Given the description of an element on the screen output the (x, y) to click on. 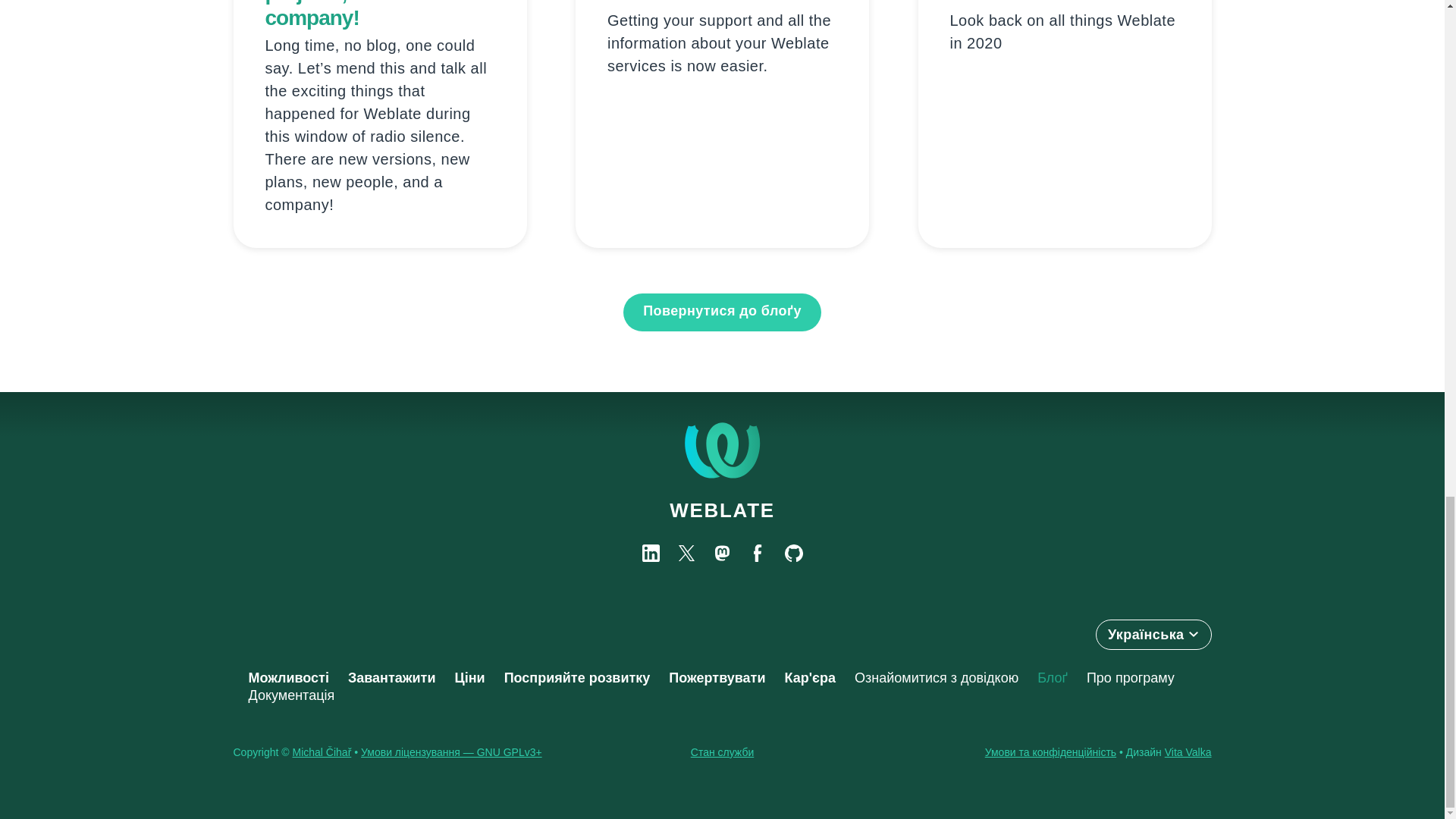
LinkedIn (650, 552)
X (686, 552)
GitHub (794, 552)
We care about you. Now even better! (721, 2)
Mastodon (722, 552)
New versions, libre projects, and a company! (354, 14)
Facebook (758, 552)
Weblate achievements in 2020 (1055, 2)
